Given the description of an element on the screen output the (x, y) to click on. 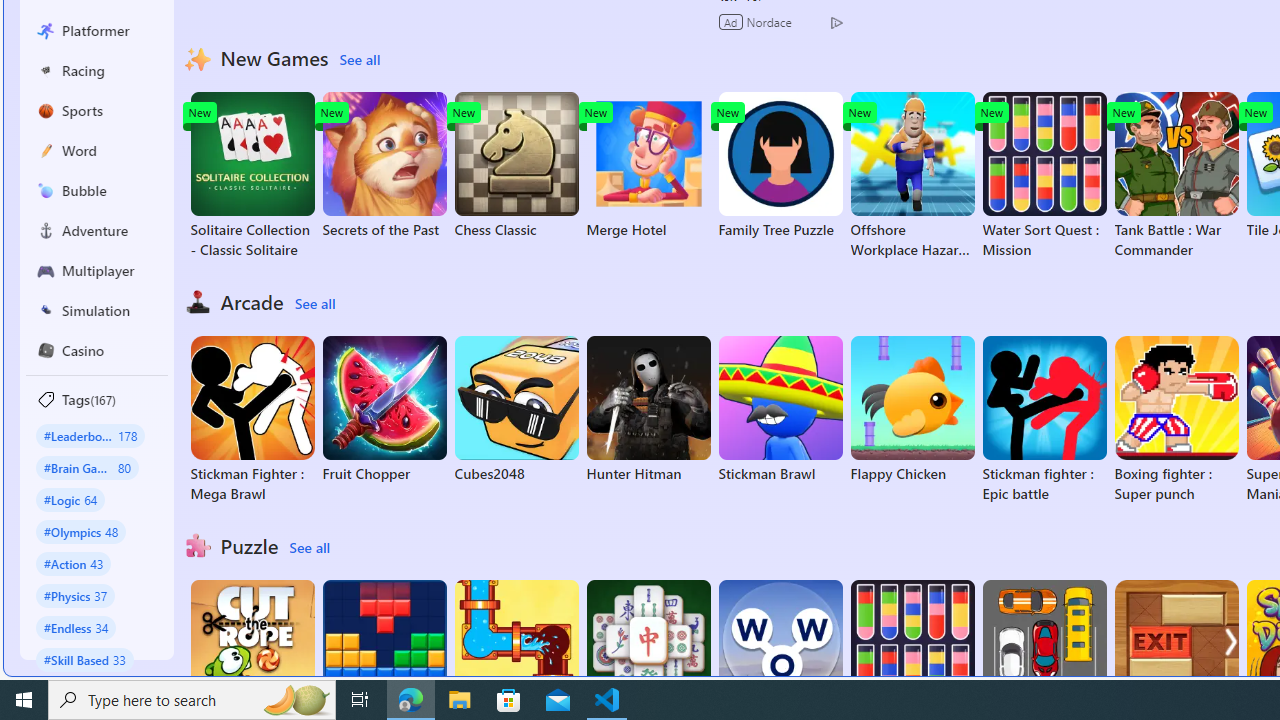
Stickman Brawl (780, 409)
Chess Classic (516, 165)
#Brain Games 80 (87, 467)
Stickman Fighter : Mega Brawl (251, 419)
Solitaire Collection - Classic Solitaire (251, 175)
#Skill Based 33 (84, 659)
#Endless 34 (75, 627)
Cubes2048 (516, 409)
Fruit Chopper (384, 409)
Offshore Workplace Hazard Game (912, 175)
Secrets of the Past (384, 165)
Family Tree Puzzle (780, 165)
See all (309, 547)
#Olympics 48 (80, 531)
#Leaderboard 178 (90, 435)
